Given the description of an element on the screen output the (x, y) to click on. 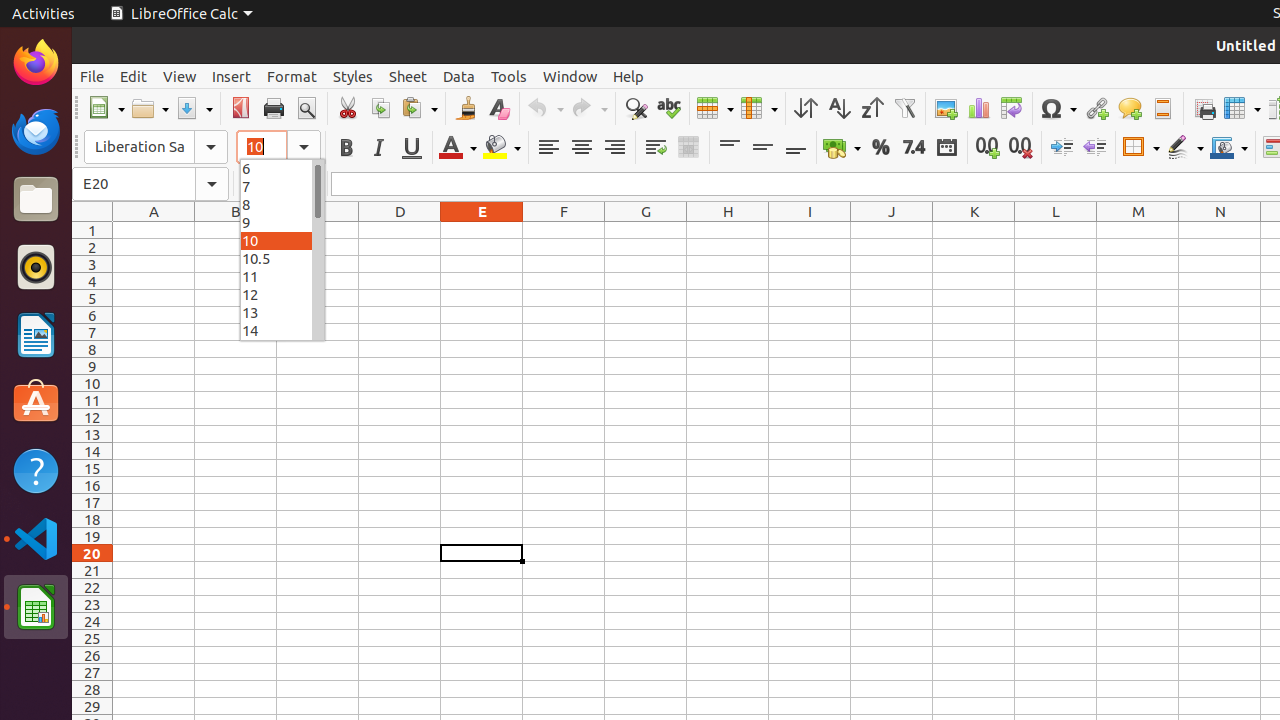
Save Element type: push-button (194, 108)
Symbol Element type: push-button (1058, 108)
Sort Element type: push-button (805, 108)
Currency Element type: push-button (842, 147)
J1 Element type: table-cell (892, 230)
